Given the description of an element on the screen output the (x, y) to click on. 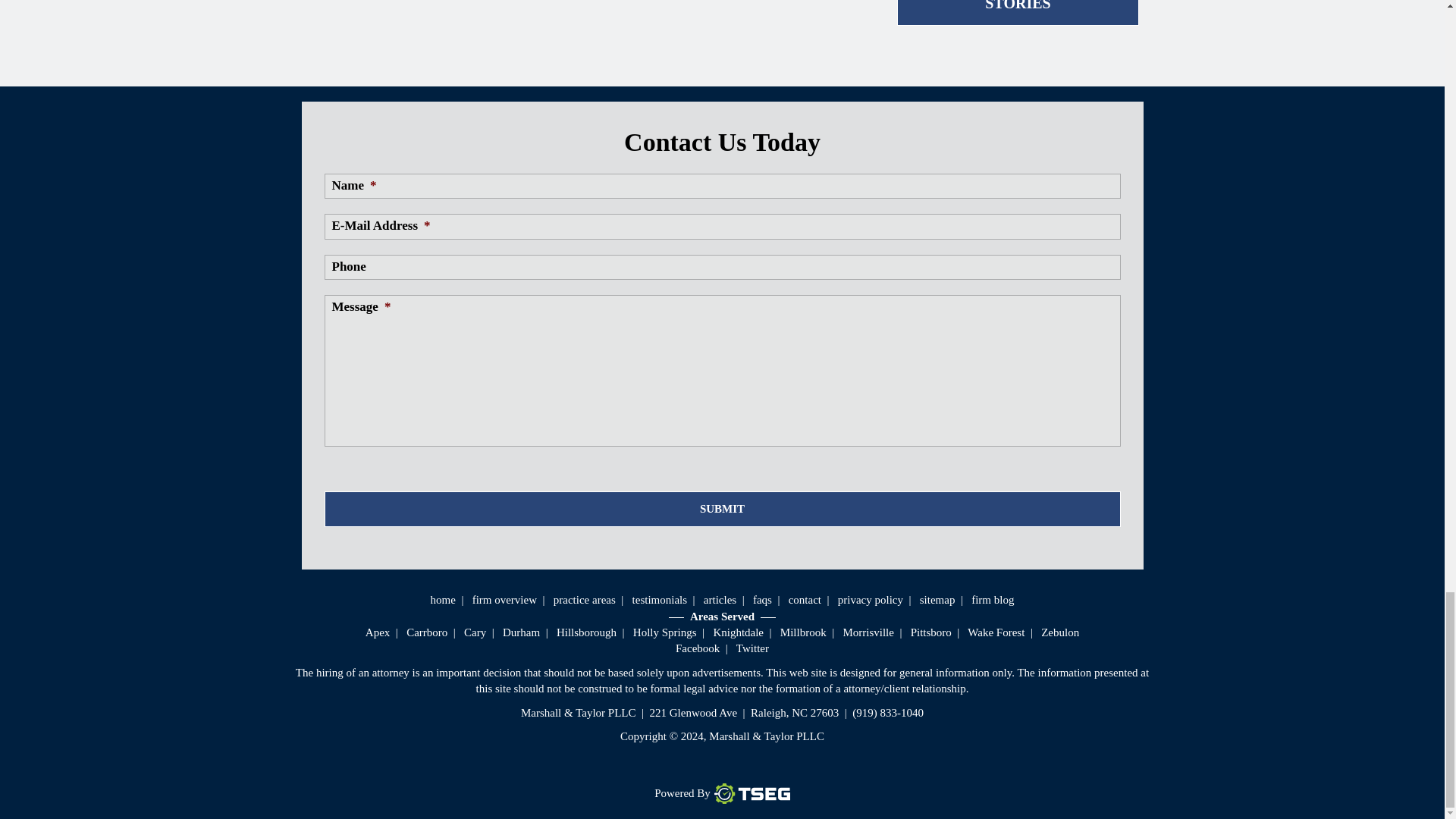
Submit (722, 509)
practice areas (584, 599)
Submit (722, 509)
home (442, 599)
firm overview (504, 599)
READ MORE CLIENT STORIES (1017, 12)
articles (719, 599)
testimonials (659, 599)
